Given the description of an element on the screen output the (x, y) to click on. 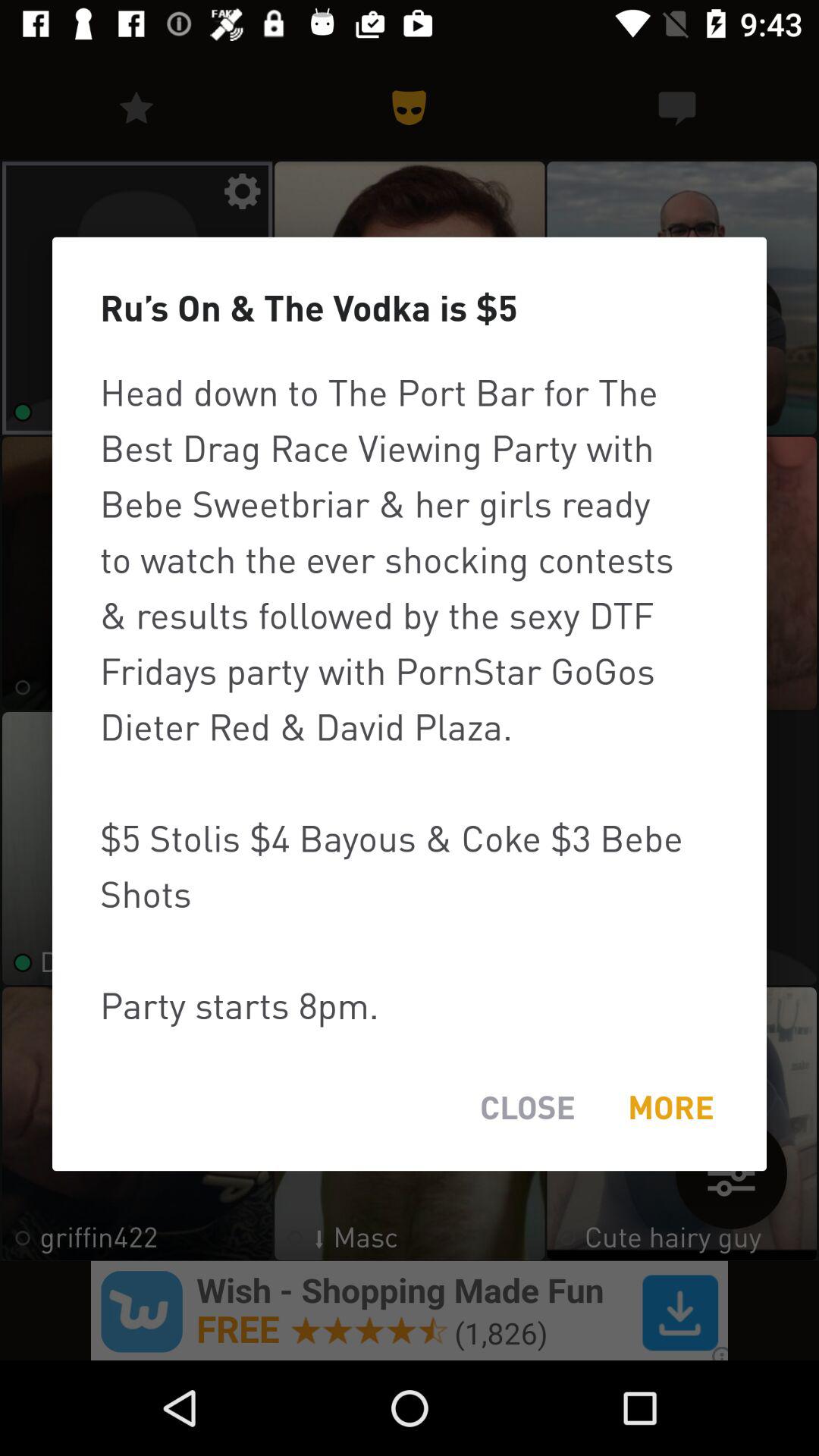
click item below head down to item (670, 1107)
